Given the description of an element on the screen output the (x, y) to click on. 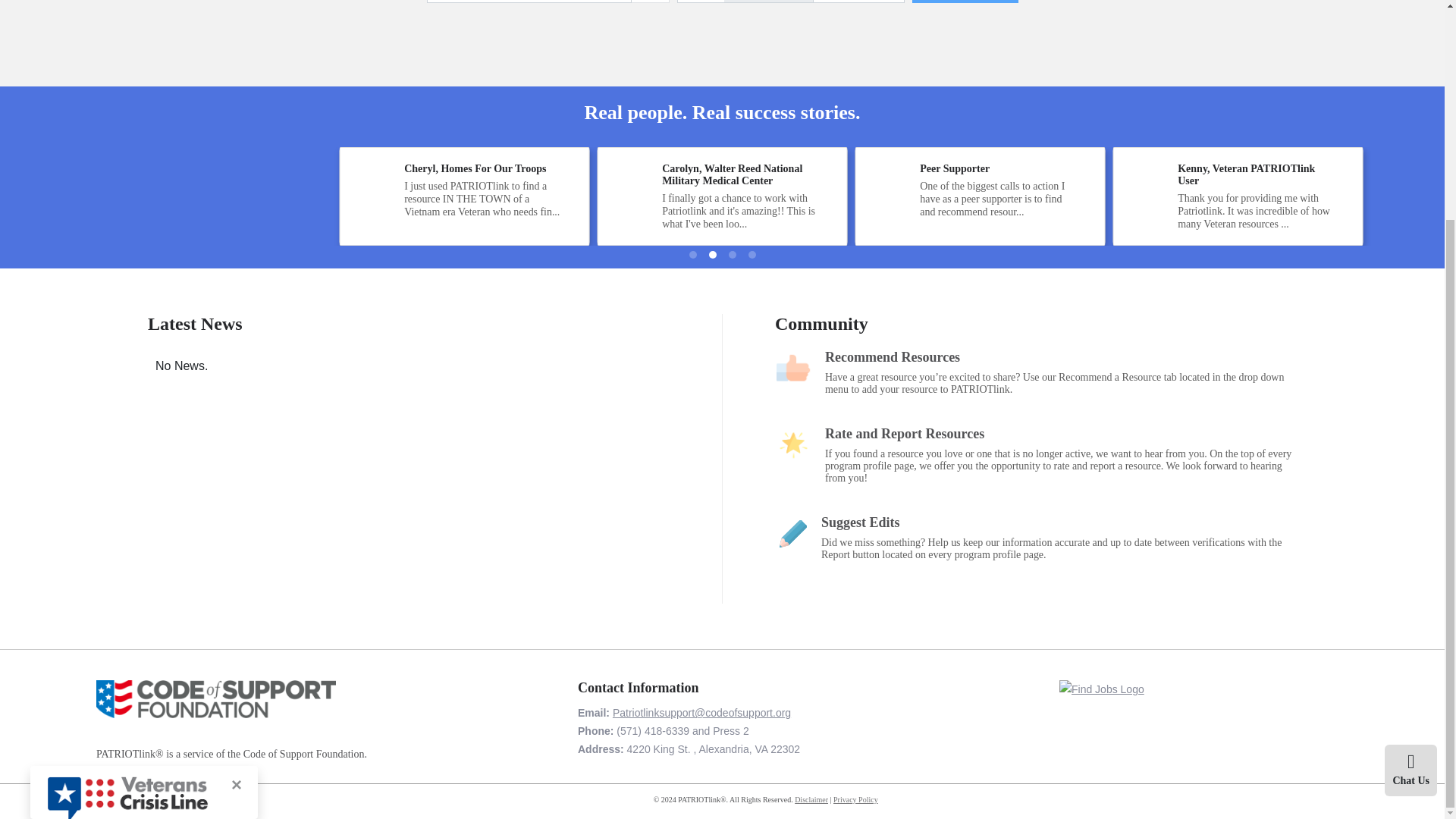
Toggle Dropdown (649, 1)
Search (964, 1)
